Given the description of an element on the screen output the (x, y) to click on. 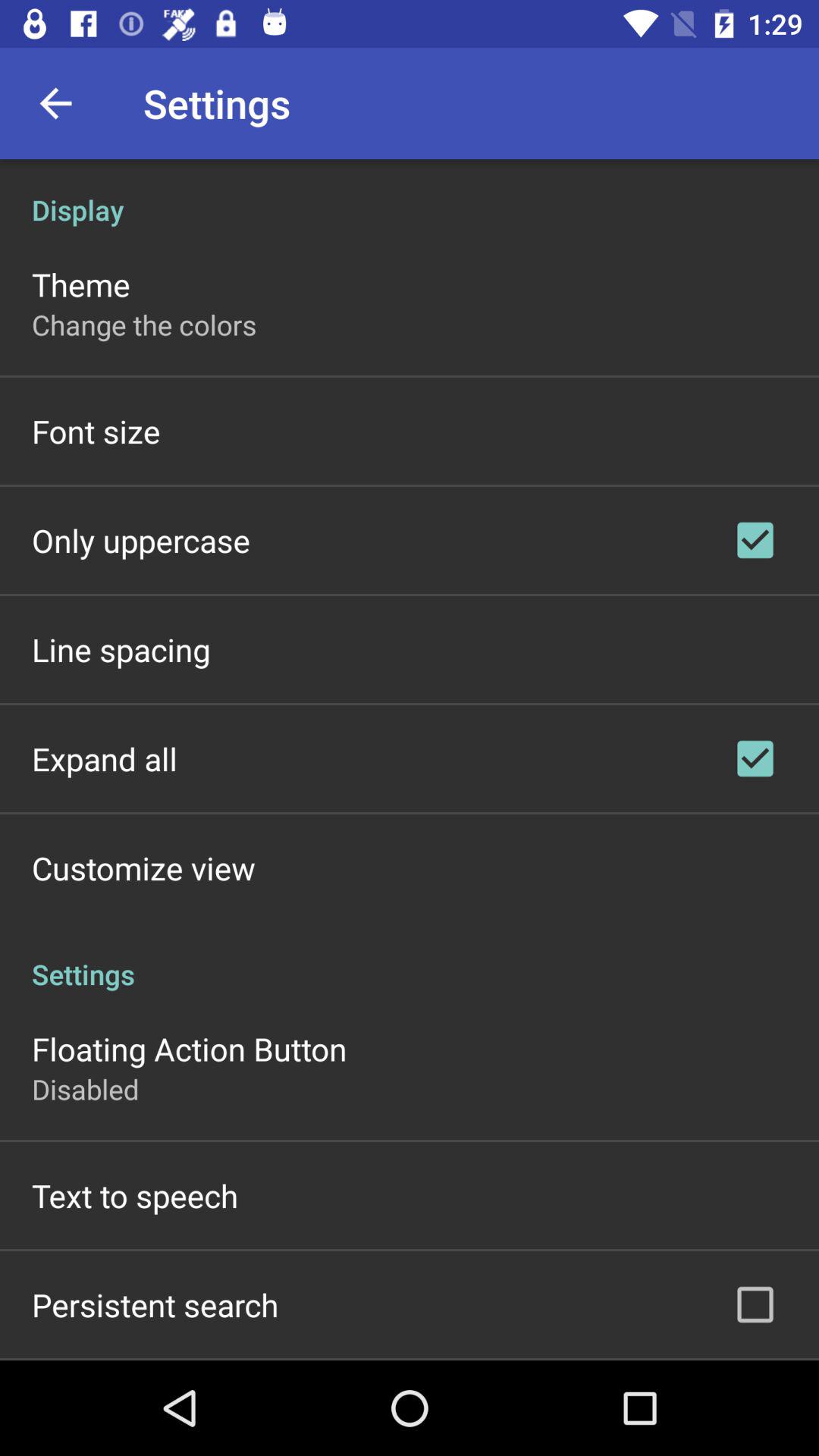
open item above the line spacing icon (140, 539)
